Given the description of an element on the screen output the (x, y) to click on. 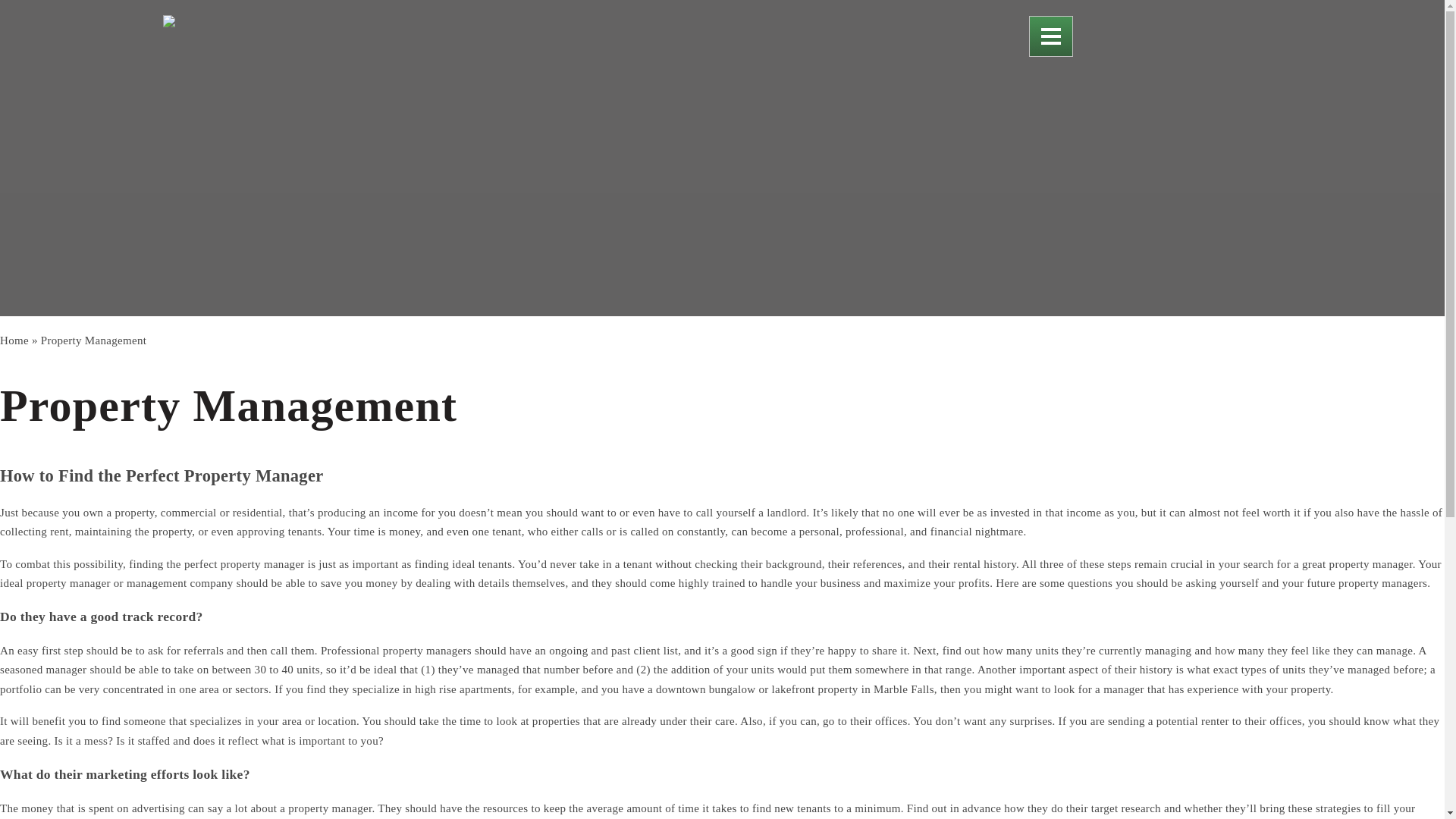
How to Find the Perfect Property Manager (161, 475)
Home (14, 340)
